Given the description of an element on the screen output the (x, y) to click on. 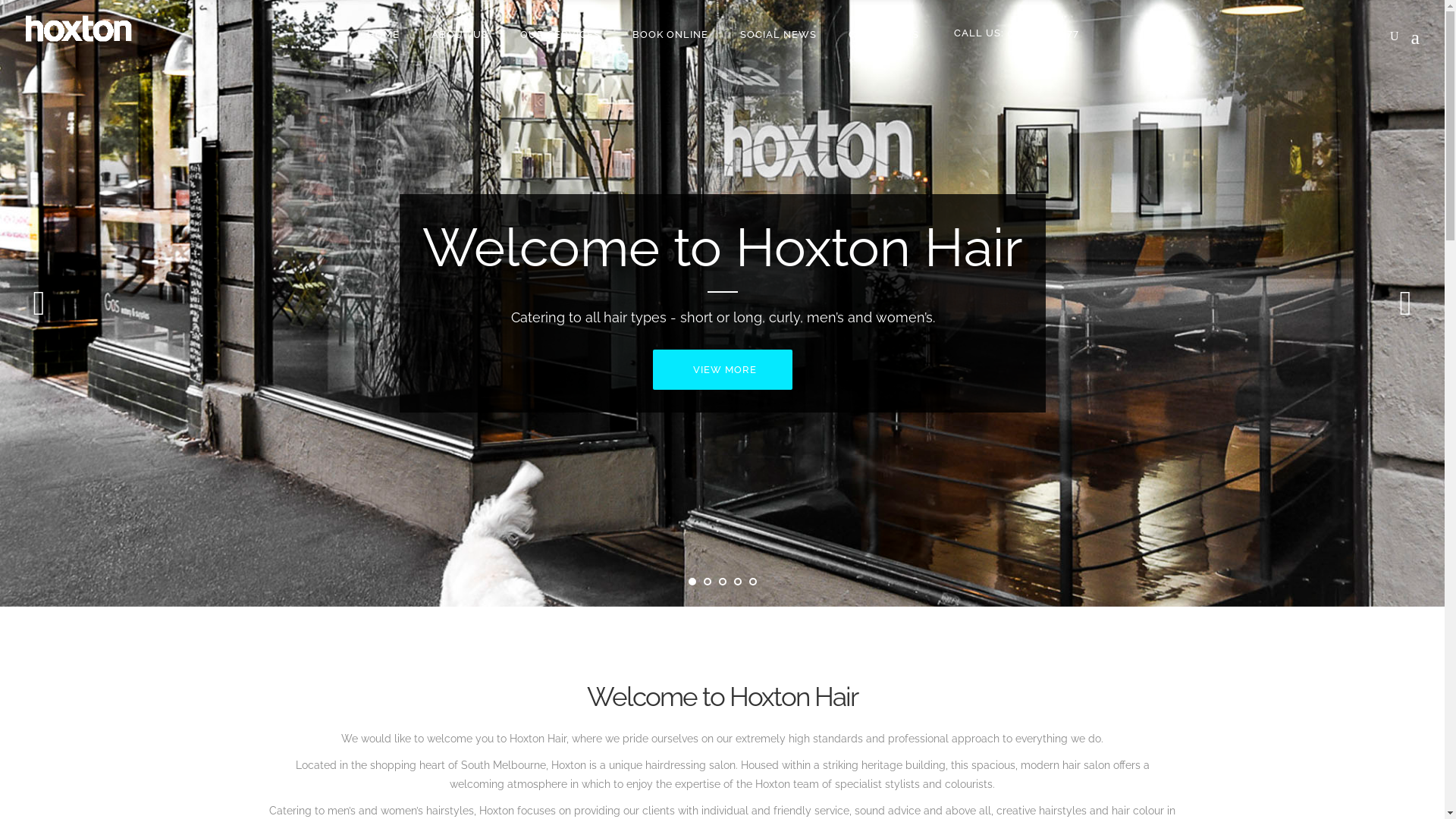
VIEW MORE Element type: text (722, 369)
HOME Element type: text (382, 33)
CALL US: 03 9690 8677 Element type: text (1015, 32)
BOOK ONLINE Element type: text (669, 33)
OUR SERVICES Element type: text (559, 33)
U Element type: text (994, 413)
CONTACT US Element type: text (883, 33)
SOCIAL NEWS Element type: text (777, 33)
ABOUT US Element type: text (459, 33)
